Given the description of an element on the screen output the (x, y) to click on. 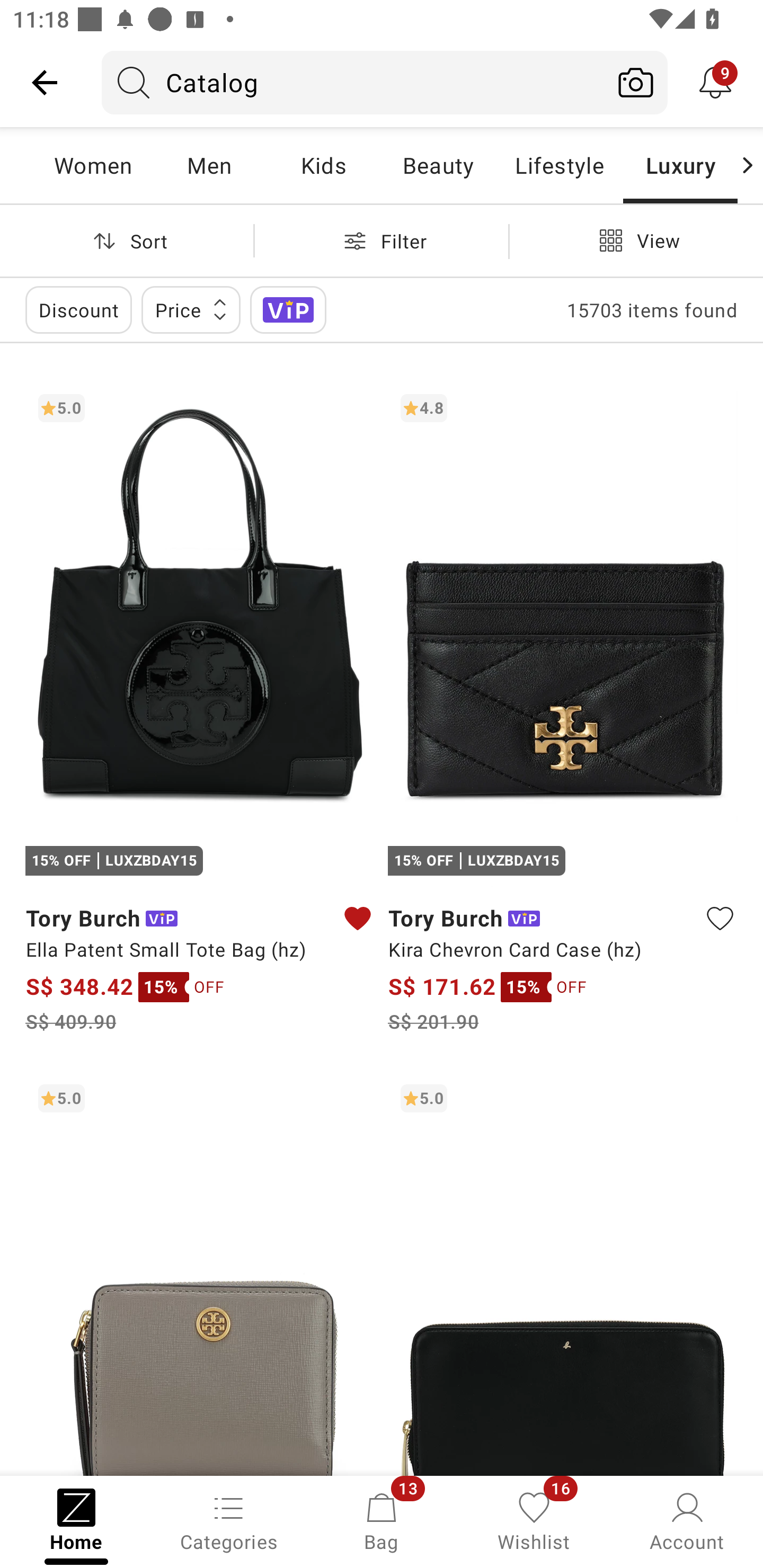
Navigate up (44, 82)
Catalog (352, 82)
Women (92, 165)
Men (208, 165)
Kids (323, 165)
Beauty (437, 165)
Lifestyle (559, 165)
Sort (126, 240)
Filter (381, 240)
View (636, 240)
Discount (78, 309)
Price (190, 309)
5.0 (200, 1272)
5.0 (562, 1272)
Categories (228, 1519)
Bag, 13 new notifications Bag (381, 1519)
Wishlist, 16 new notifications Wishlist (533, 1519)
Account (686, 1519)
